Given the description of an element on the screen output the (x, y) to click on. 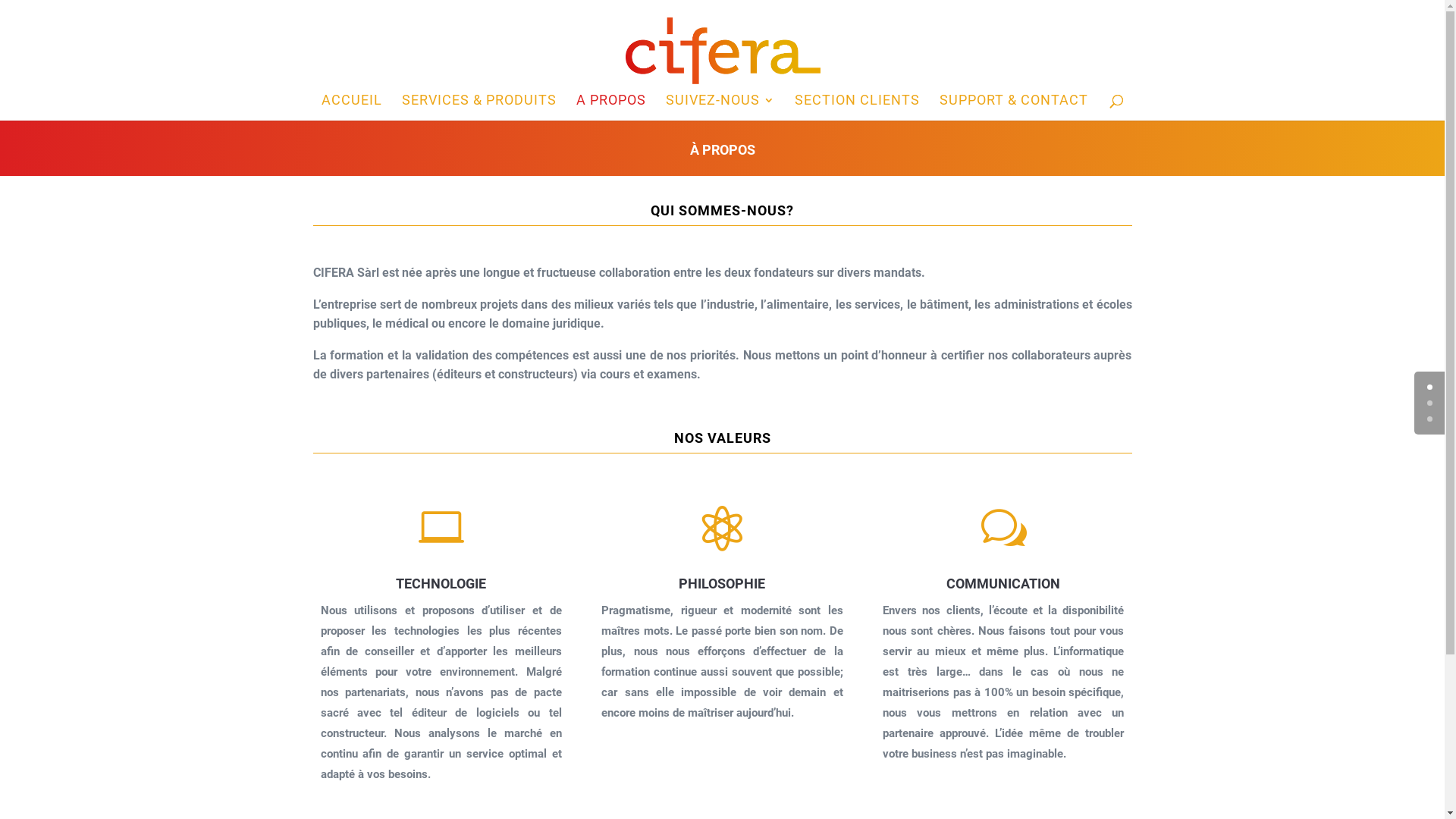
1 Element type: text (1429, 402)
SUIVEZ-NOUS Element type: text (720, 107)
0 Element type: text (1429, 386)
SUPPORT & CONTACT Element type: text (1013, 107)
SECTION CLIENTS Element type: text (856, 107)
SERVICES & PRODUITS Element type: text (478, 107)
ACCUEIL Element type: text (351, 107)
A PROPOS Element type: text (611, 107)
2 Element type: text (1429, 418)
